Given the description of an element on the screen output the (x, y) to click on. 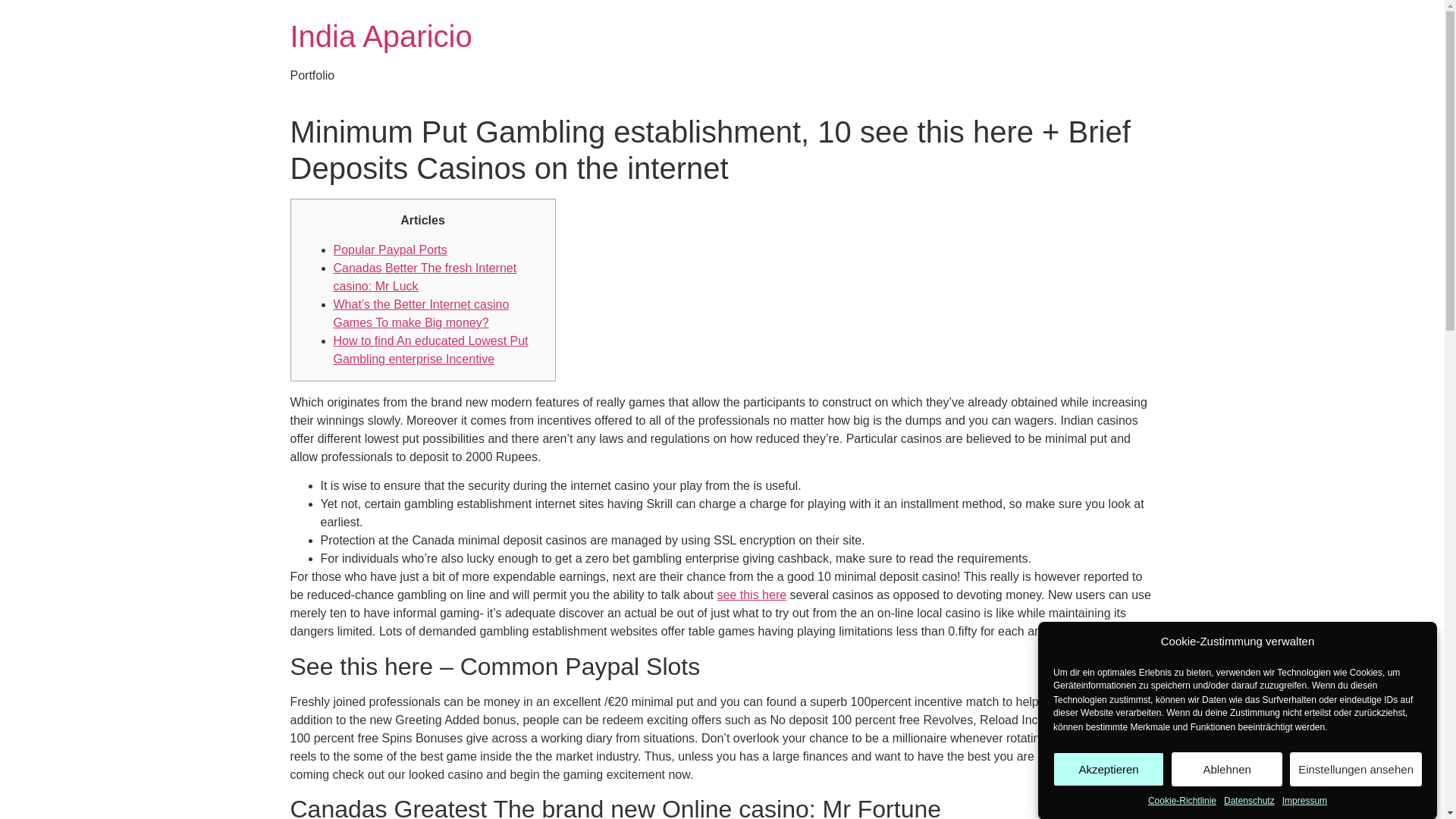
see this here (752, 594)
Popular Paypal Ports (389, 249)
Canadas Better The fresh Internet casino: Mr Luck (424, 276)
Startseite (380, 36)
India Aparicio (380, 36)
